Given the description of an element on the screen output the (x, y) to click on. 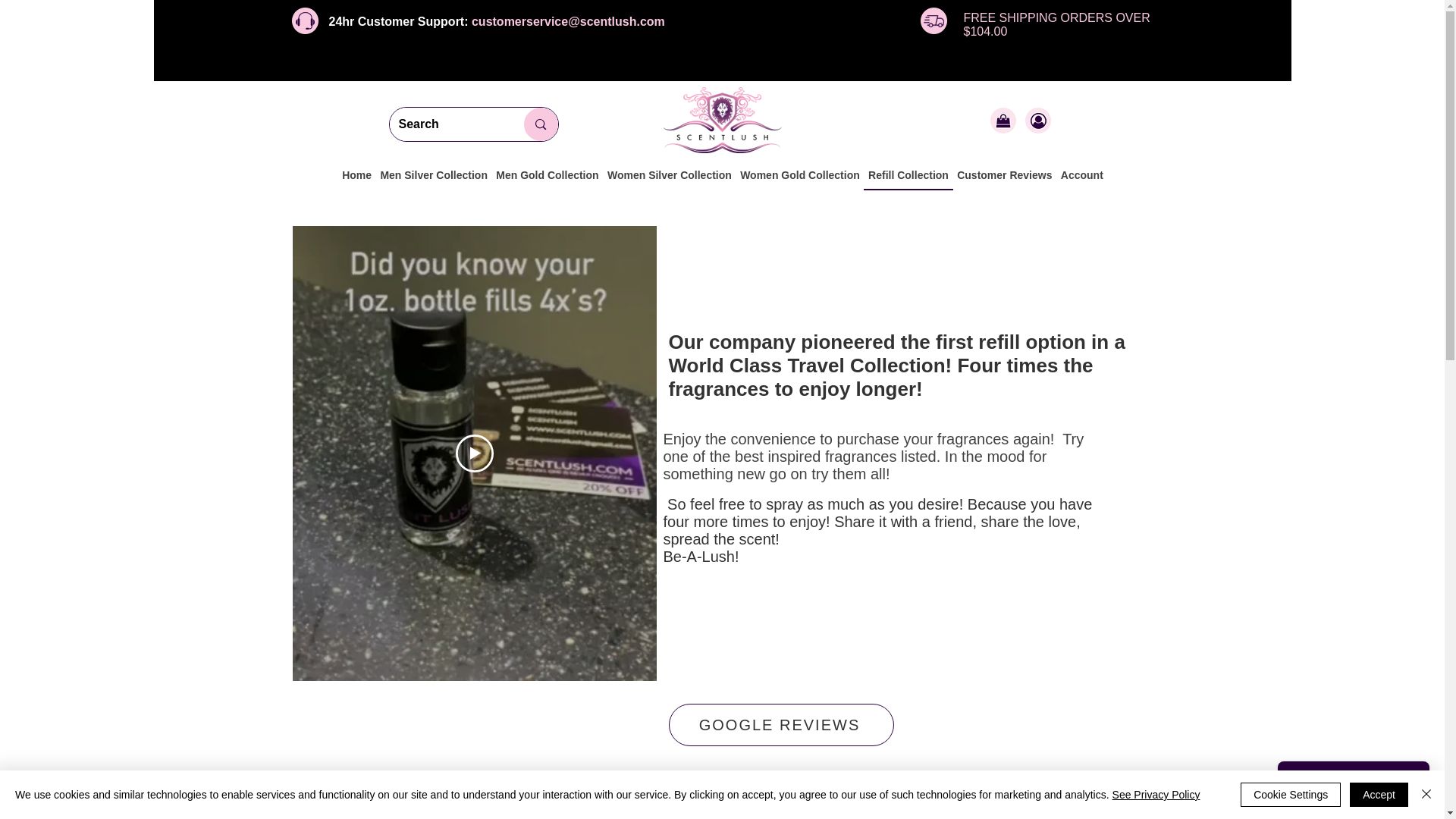
Account (1081, 175)
user-icon.png (1038, 120)
Refill Collection (907, 175)
Women Gold Collection (799, 175)
logo.png (721, 119)
Home (356, 175)
Men Silver Collection (433, 175)
headphone-icon.png (304, 20)
Women Silver Collection (668, 175)
cart-icon.png (1003, 120)
shipping-icon.png (933, 20)
GOOGLE REVIEWS (780, 724)
Men Gold Collection (548, 175)
Customer Reviews (1005, 175)
